Given the description of an element on the screen output the (x, y) to click on. 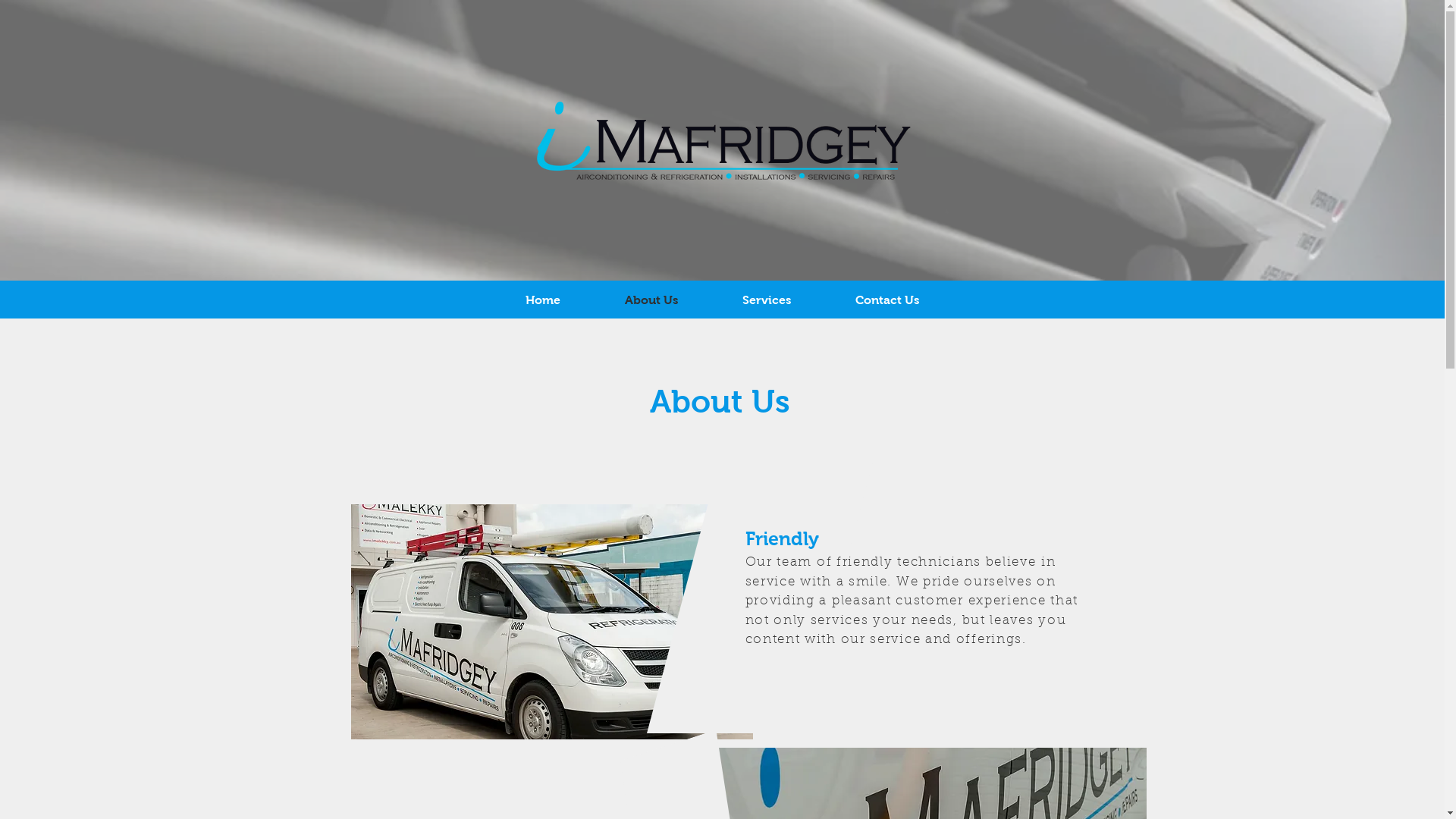
Contact Us Element type: text (886, 299)
Services Element type: text (765, 299)
Home Element type: text (542, 299)
About Us Element type: text (651, 299)
Visitor Analytics Element type: hover (479, 124)
